Given the description of an element on the screen output the (x, y) to click on. 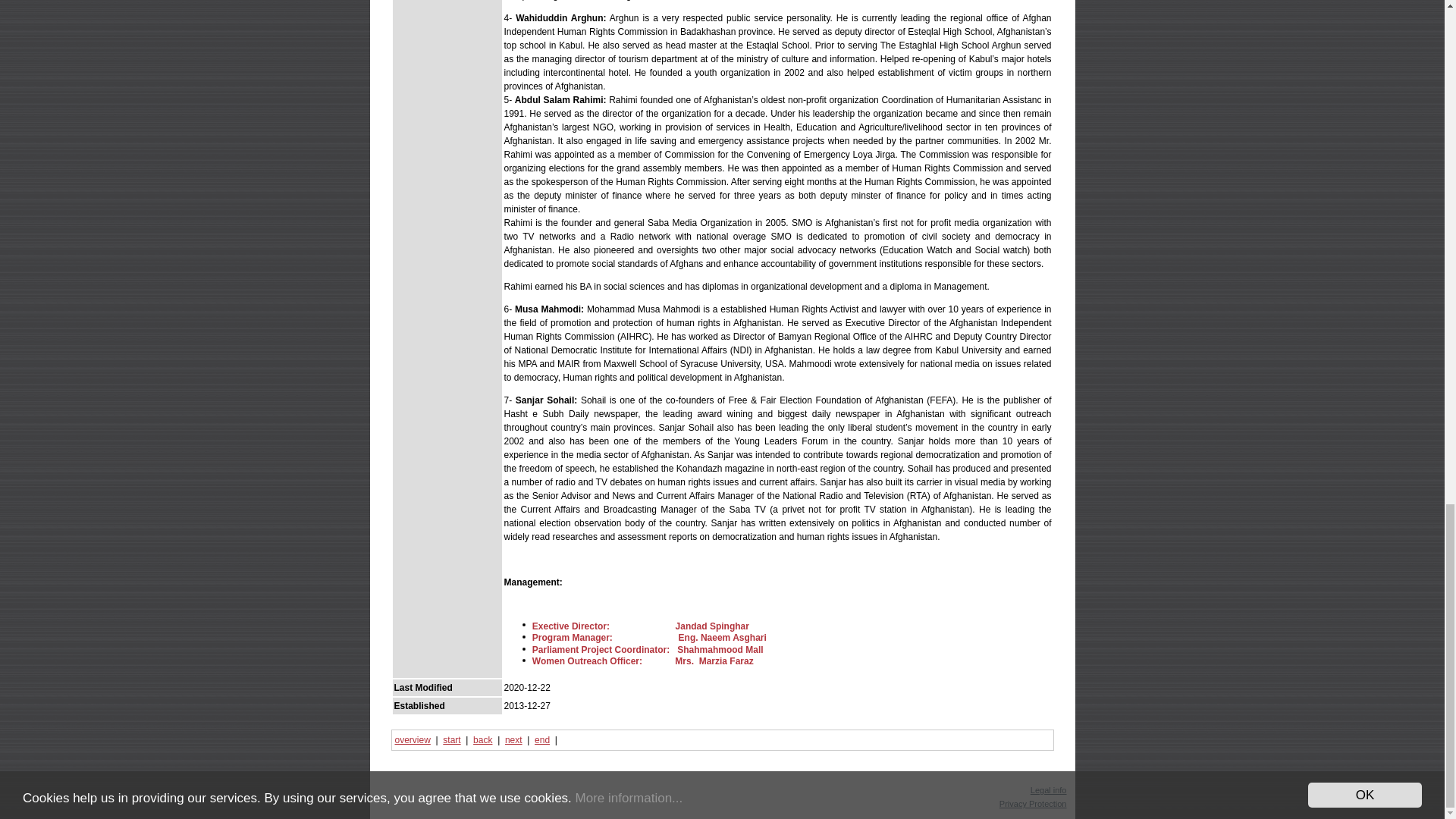
next (513, 739)
back (482, 739)
end (542, 739)
Legal info (1048, 789)
start (451, 739)
overview (411, 739)
Privacy Protection (1032, 803)
